Given the description of an element on the screen output the (x, y) to click on. 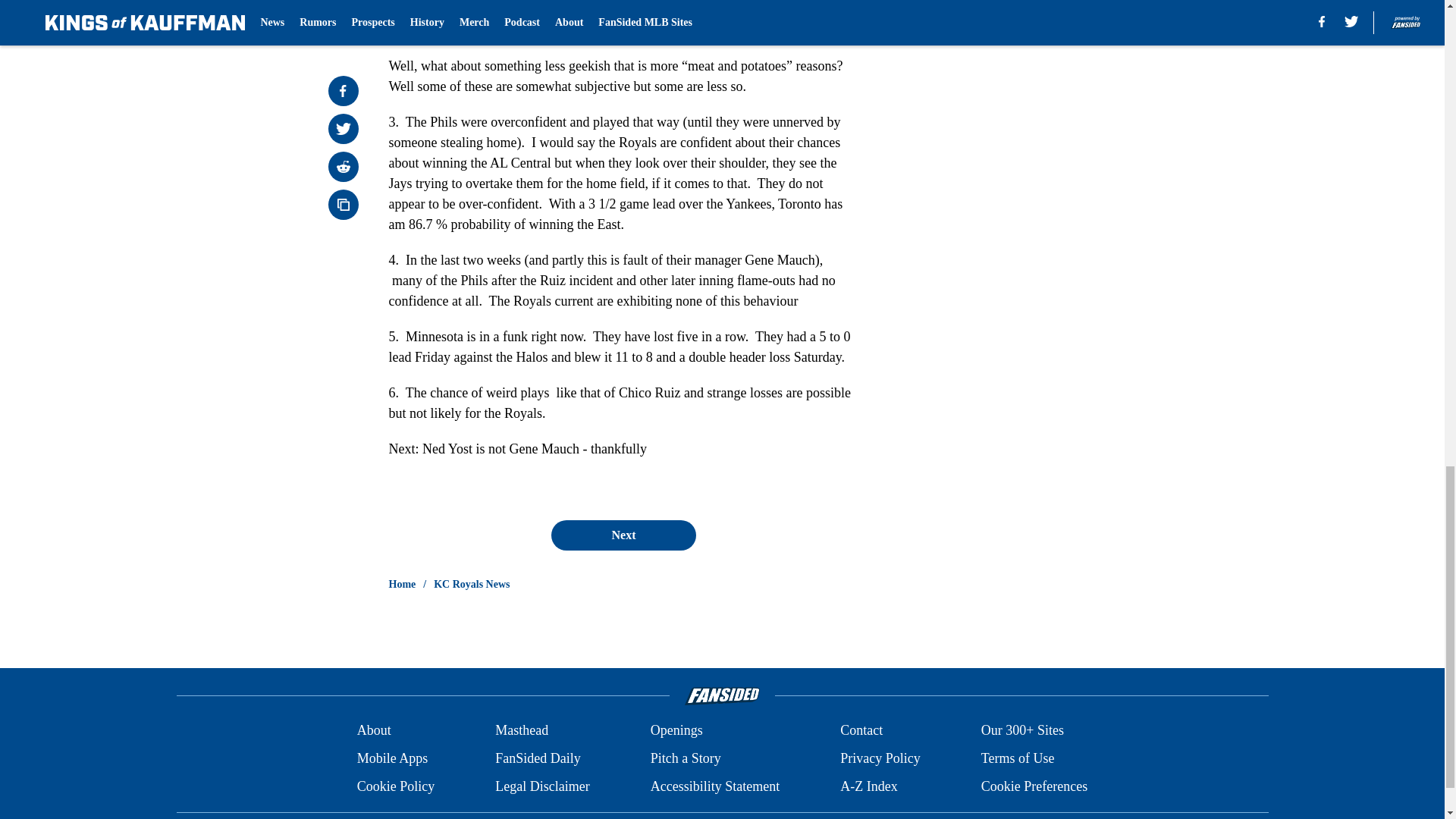
Home (401, 584)
Contact (861, 730)
Openings (676, 730)
Legal Disclaimer (542, 786)
Privacy Policy (880, 758)
Next (622, 535)
Cookie Policy (395, 786)
KC Royals News (471, 584)
About (373, 730)
Terms of Use (1017, 758)
Pitch a Story (685, 758)
Mobile Apps (392, 758)
FanSided Daily (537, 758)
Accessibility Statement (714, 786)
Masthead (521, 730)
